Given the description of an element on the screen output the (x, y) to click on. 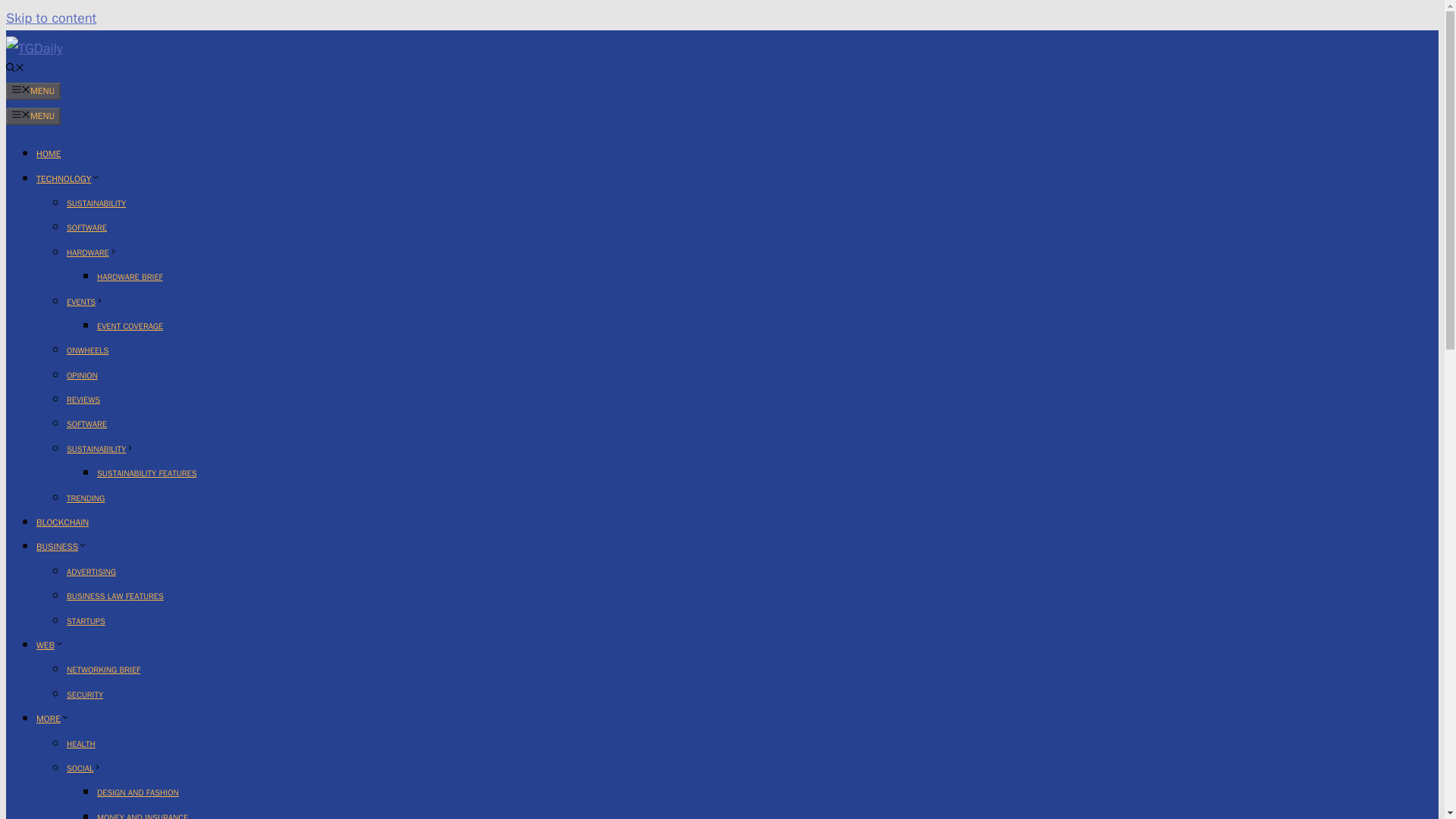
ADVERTISING (91, 571)
ONWHEELS (86, 349)
EVENT COVERAGE (130, 326)
HEALTH (81, 743)
SOCIAL (83, 767)
SUSTAINABILITY (99, 448)
SOFTWARE (86, 423)
SUSTAINABILITY (95, 203)
HARDWARE BRIEF (130, 276)
WEB (50, 645)
SUSTAINABILITY FEATURES (146, 472)
Skip to content (50, 17)
TECHNOLOGY (68, 178)
NETWORKING BRIEF (102, 669)
EVENTS (84, 300)
